Given the description of an element on the screen output the (x, y) to click on. 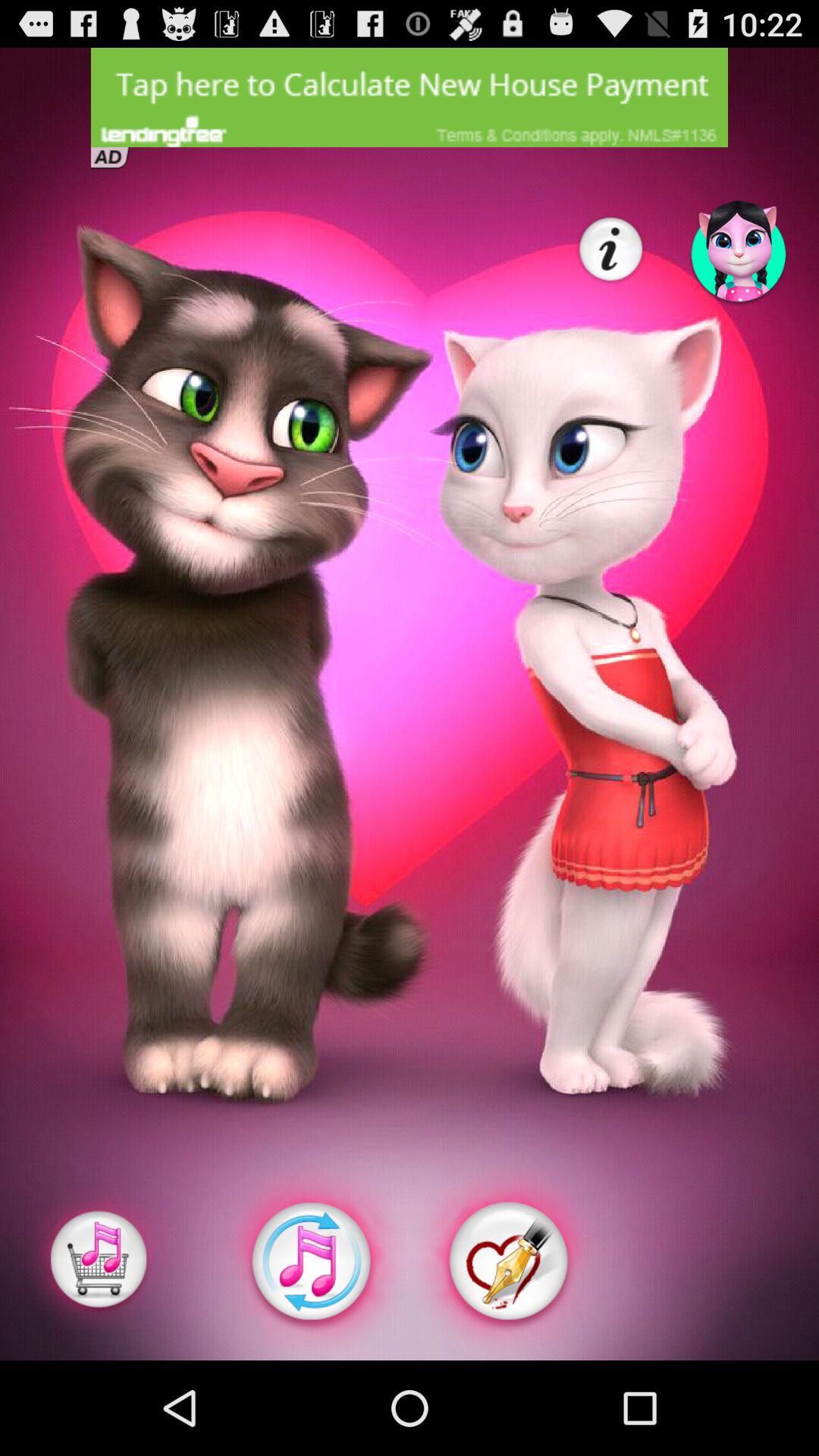
play song (98, 1261)
